Given the description of an element on the screen output the (x, y) to click on. 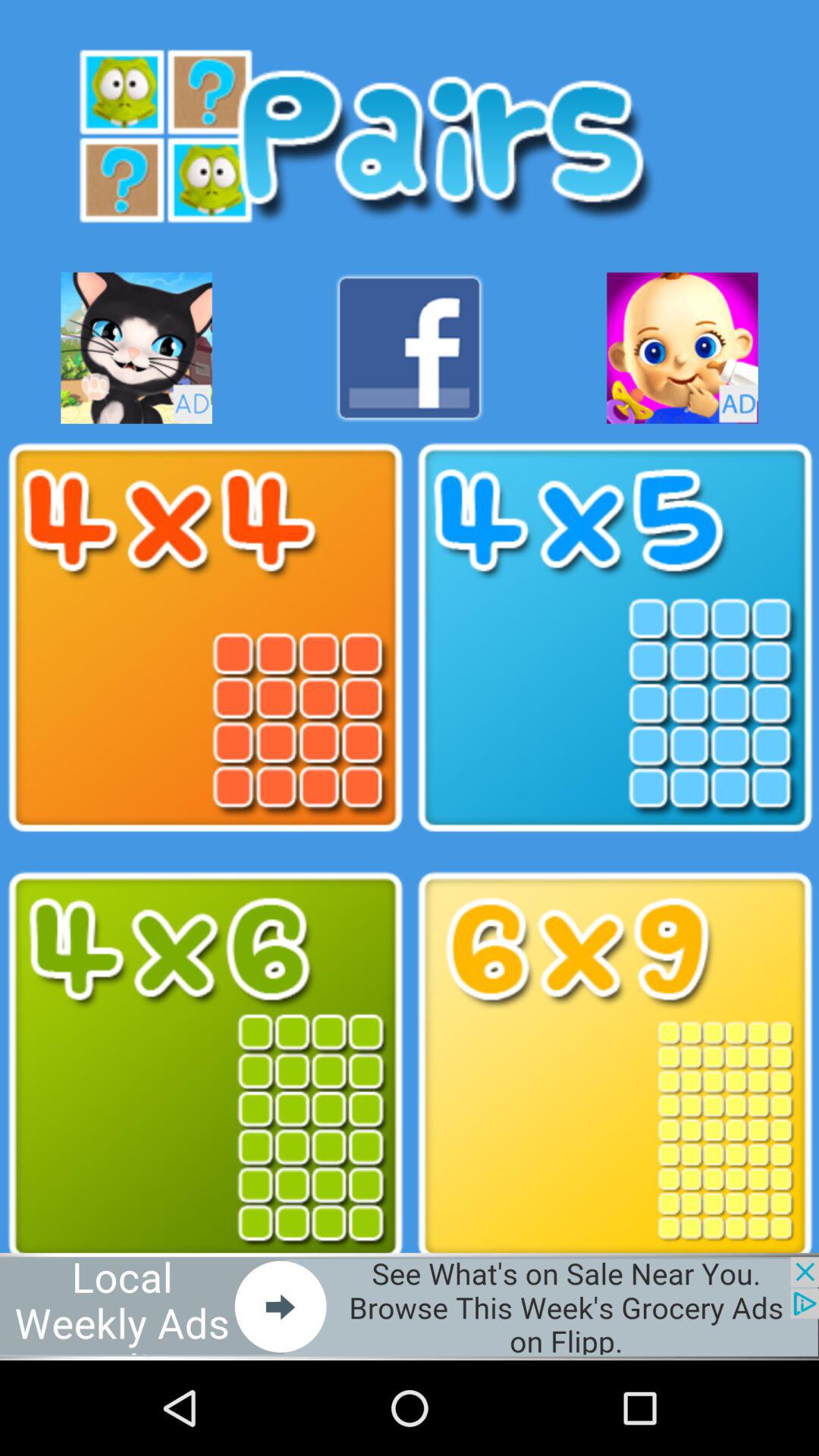
facebook page (409, 347)
